Given the description of an element on the screen output the (x, y) to click on. 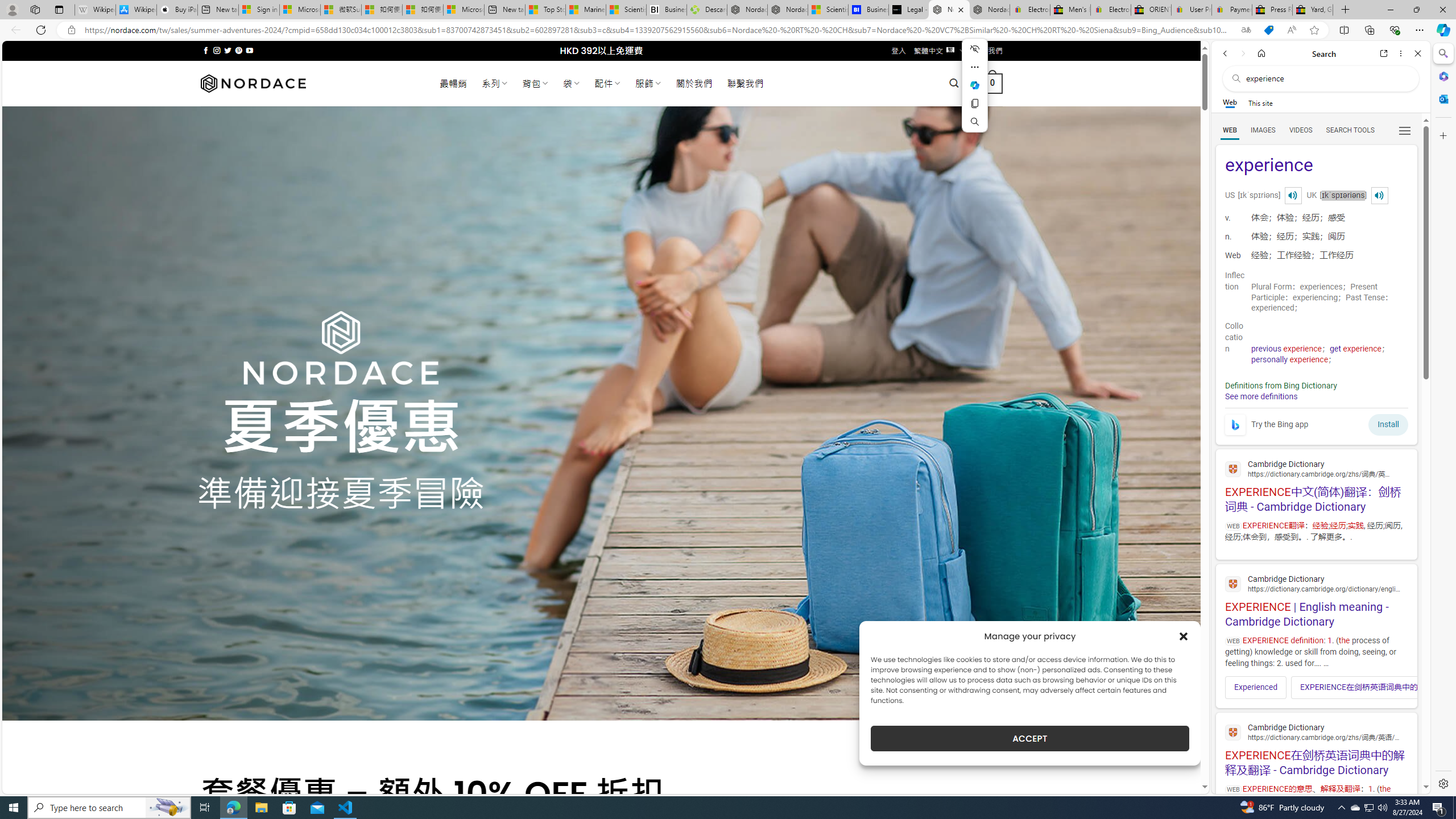
Follow on YouTube (249, 50)
